Given the description of an element on the screen output the (x, y) to click on. 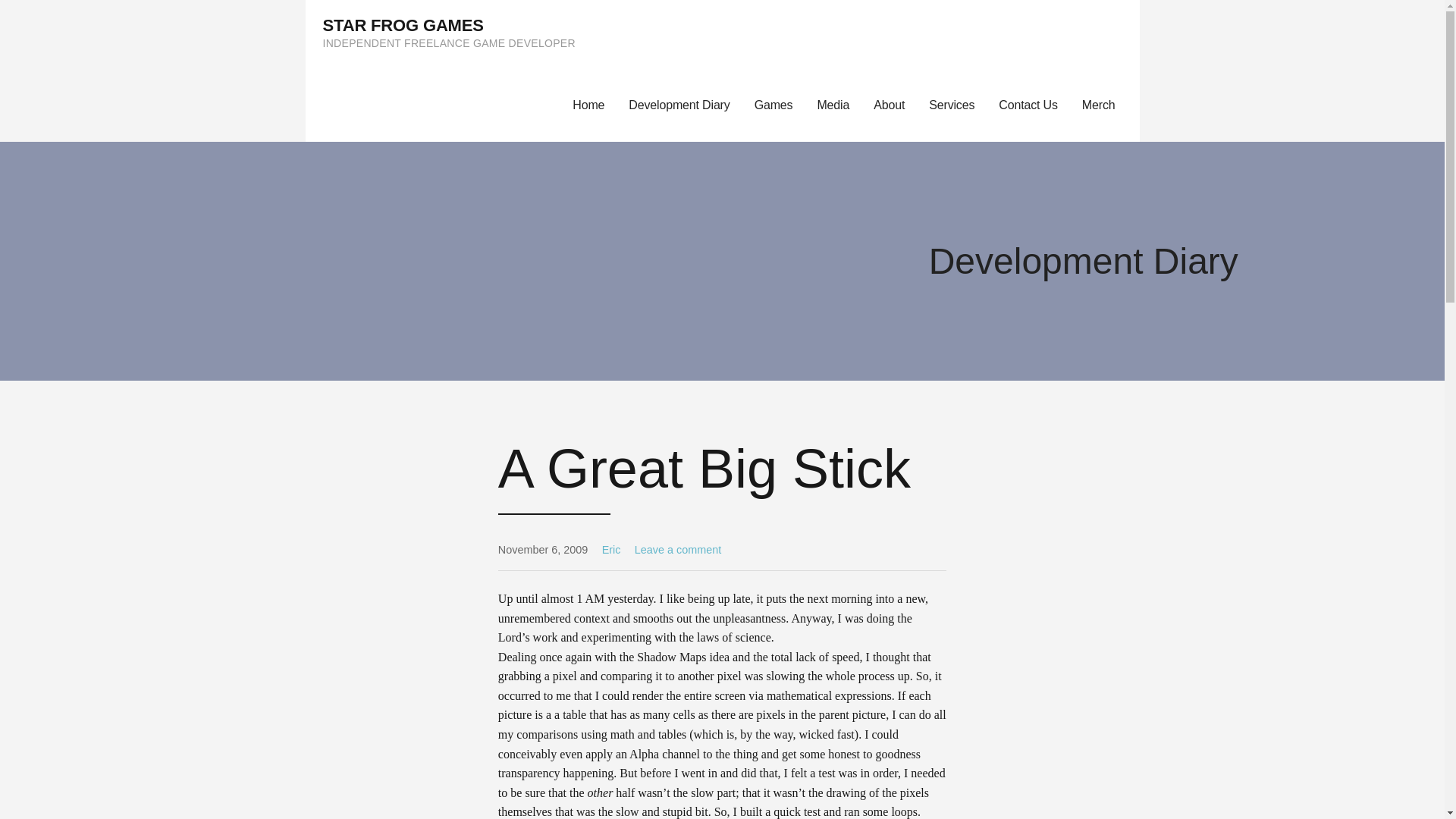
Contact Us (1028, 105)
Services (952, 105)
Posts by Eric (611, 549)
STAR FROG GAMES (403, 25)
Development Diary (678, 105)
Leave a comment (677, 549)
Eric (611, 549)
Merch (1105, 105)
